Given the description of an element on the screen output the (x, y) to click on. 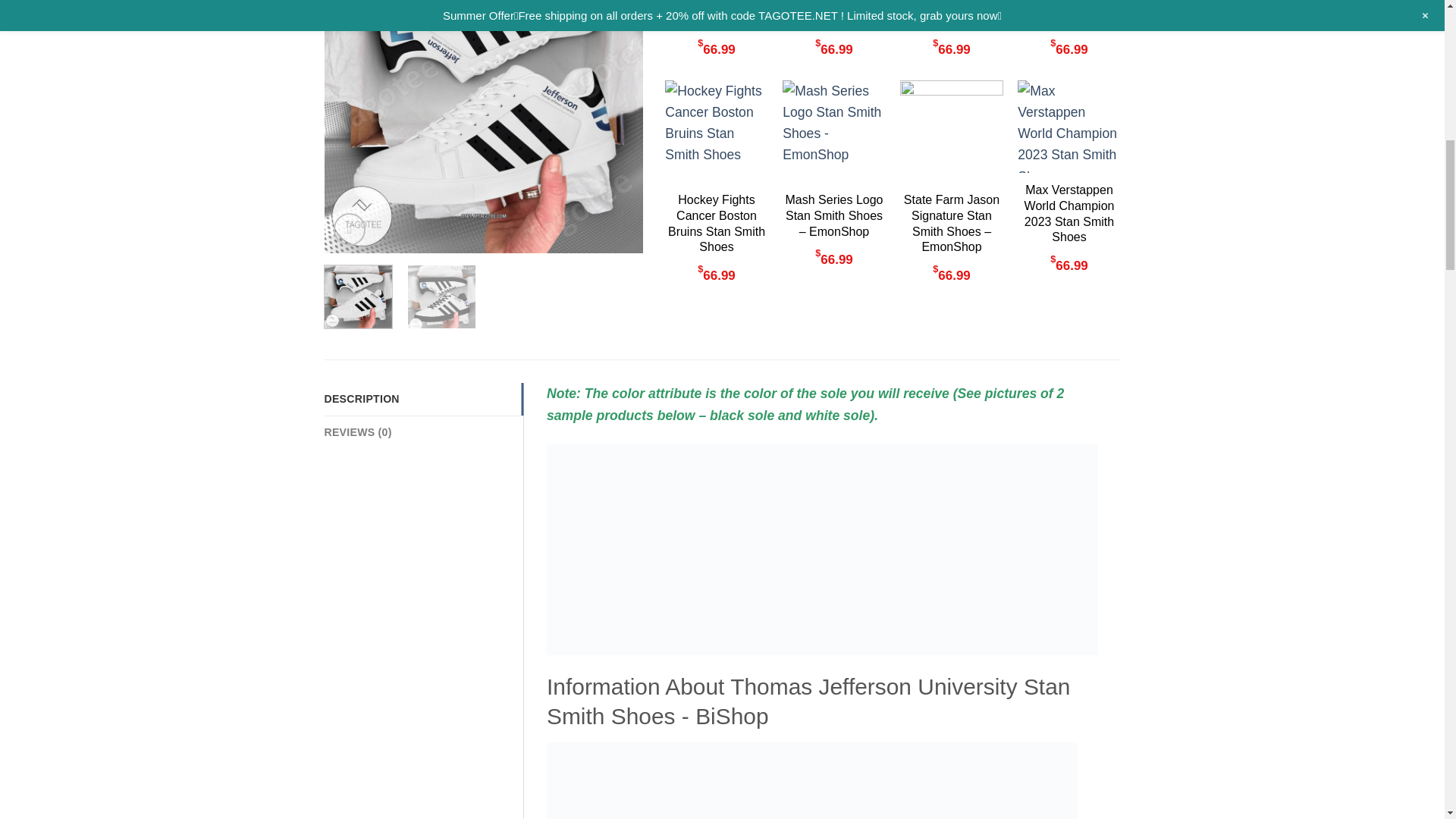
Missouri Tigers Football Veterans Stan Smith Shoes (716, 14)
West Virginia Football Veterans Stan Smith Shoes (834, 14)
Hockey Fights Cancer Boston Bruins Stan Smith Shoes (716, 223)
Cfr 1907 Cluj Superliga Stan Smith Shoes (1068, 14)
